Given the description of an element on the screen output the (x, y) to click on. 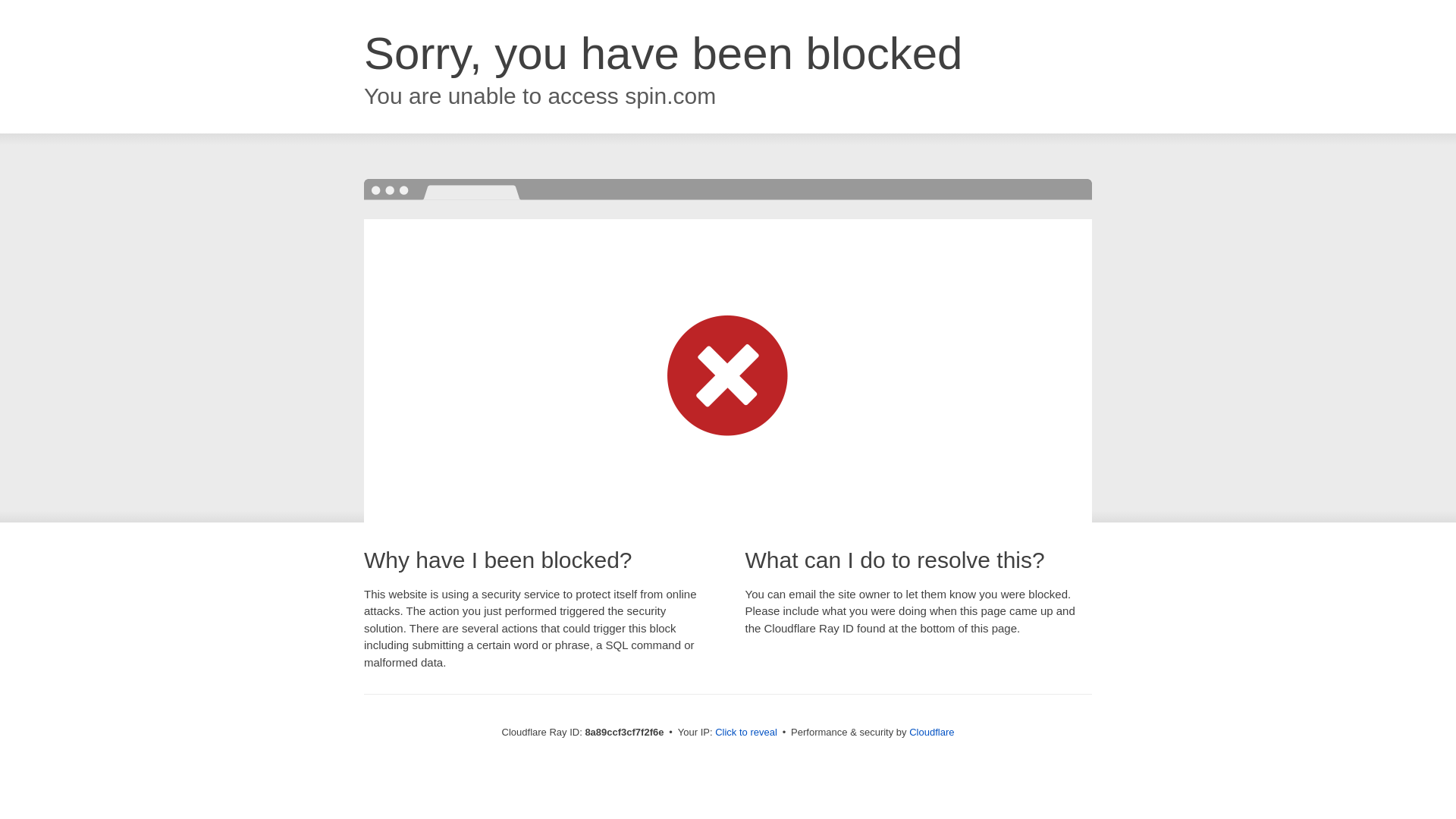
Click to reveal (745, 732)
Cloudflare (930, 731)
